Given the description of an element on the screen output the (x, y) to click on. 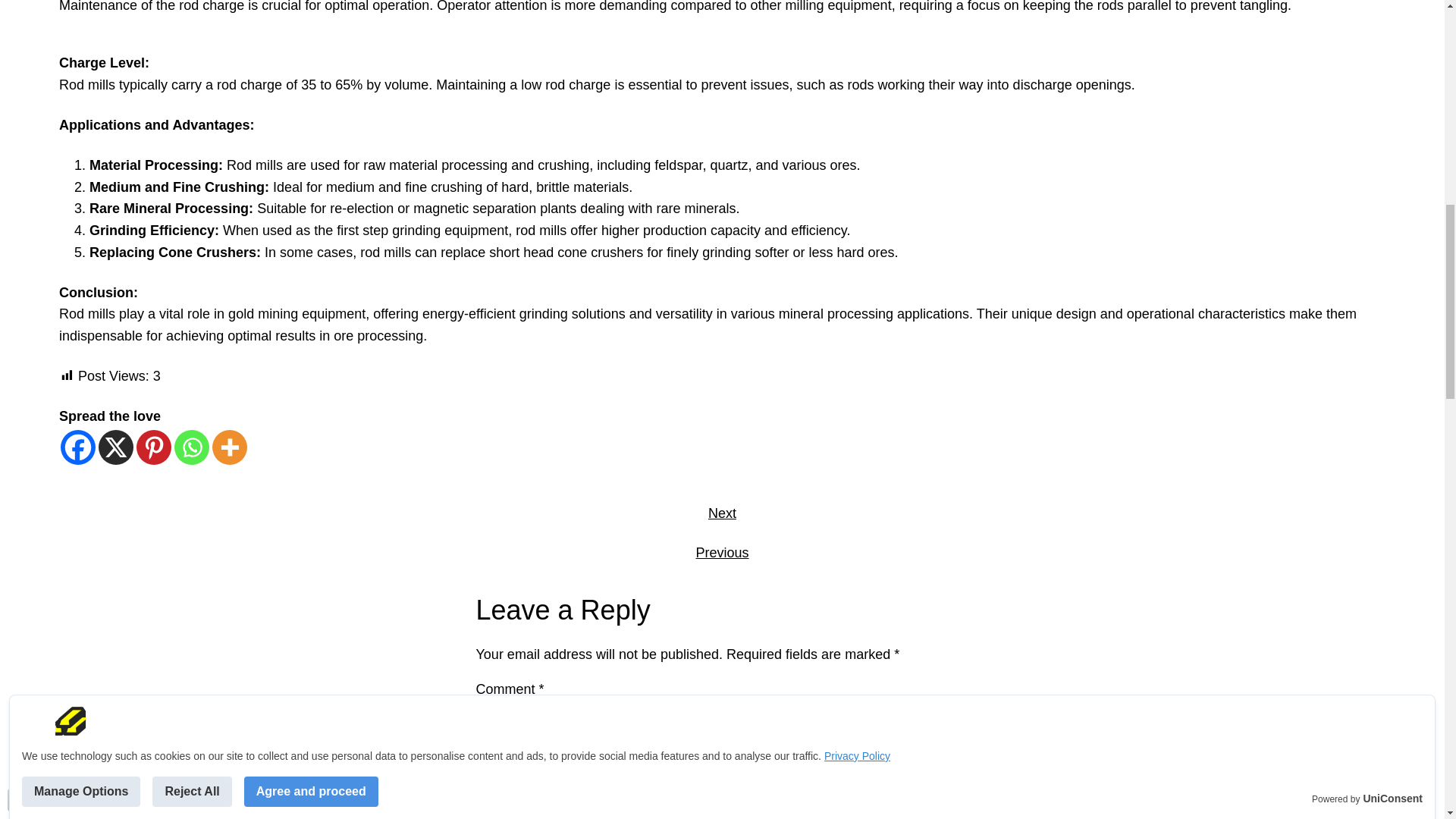
Next (721, 513)
Pinterest (153, 447)
Previous (721, 552)
More (229, 447)
X (116, 447)
Whatsapp (191, 447)
Facebook (78, 447)
